Given the description of an element on the screen output the (x, y) to click on. 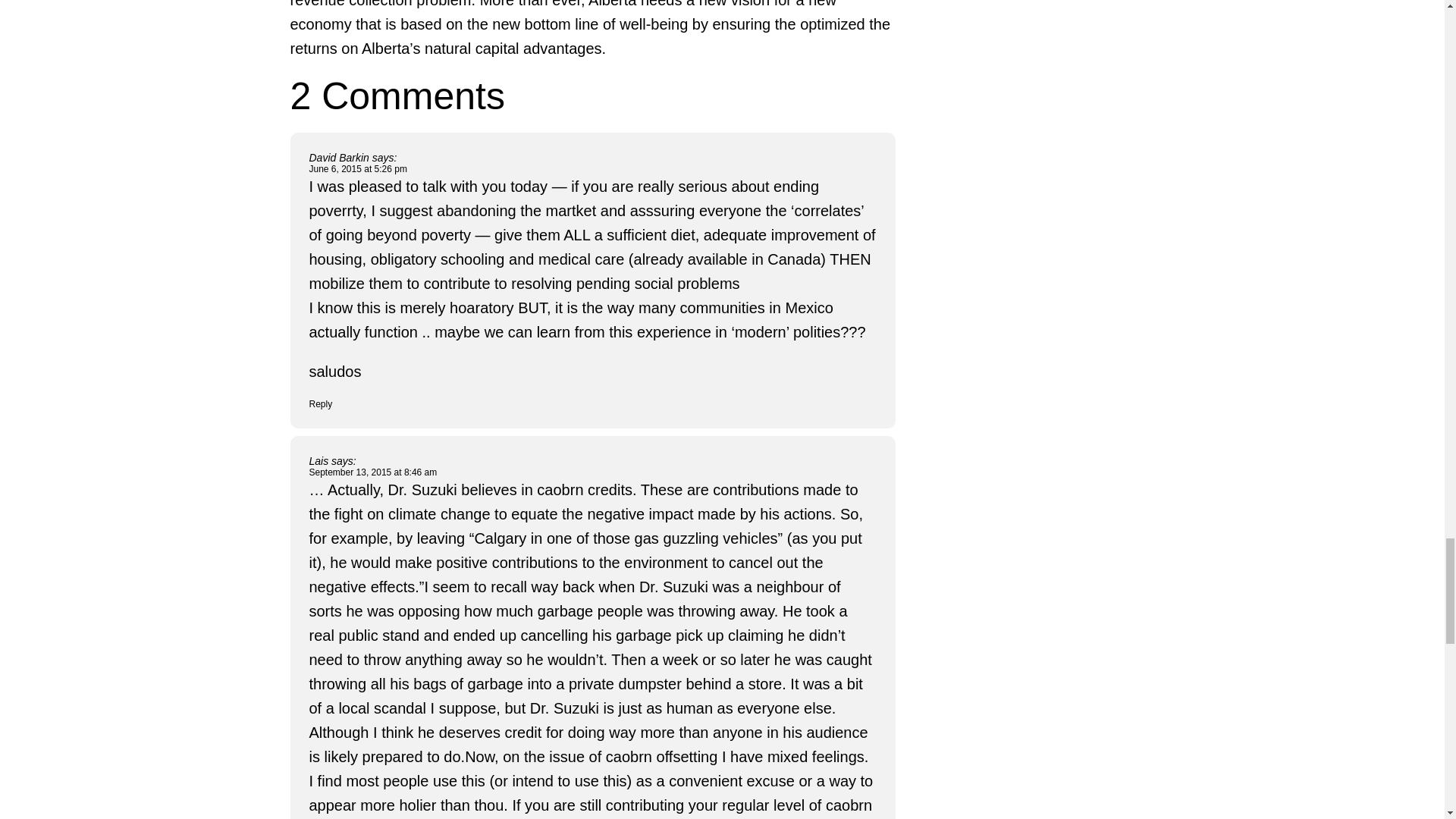
Lais (318, 460)
June 6, 2015 at 5:26 pm (357, 168)
Reply (320, 403)
September 13, 2015 at 8:46 am (373, 471)
